Given the description of an element on the screen output the (x, y) to click on. 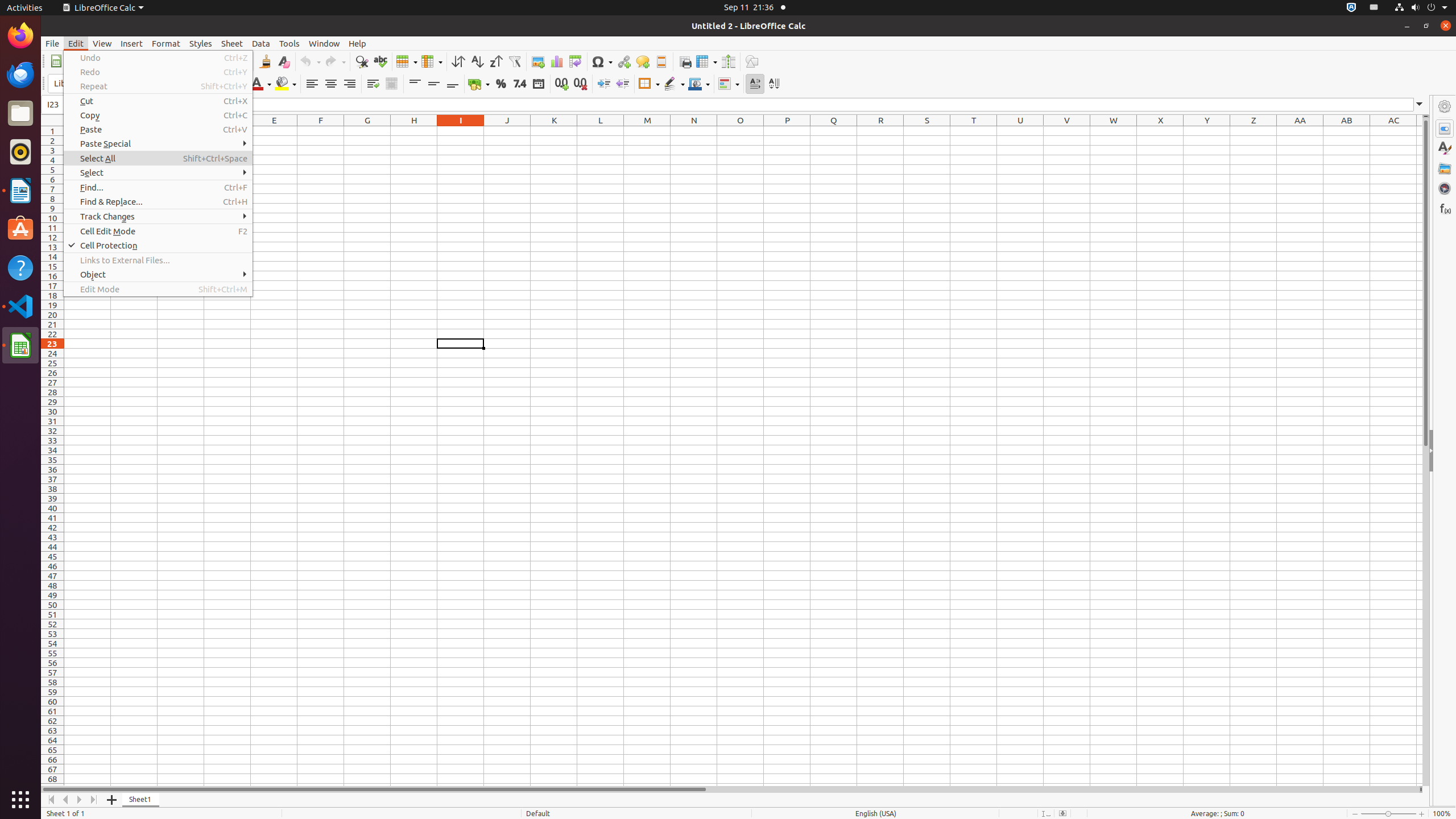
Sheet1 Element type: page-tab (140, 799)
N1 Element type: table-cell (693, 130)
Move To Home Element type: push-button (51, 799)
Spelling Element type: push-button (379, 61)
Freeze Rows and Columns Element type: push-button (705, 61)
